Given the description of an element on the screen output the (x, y) to click on. 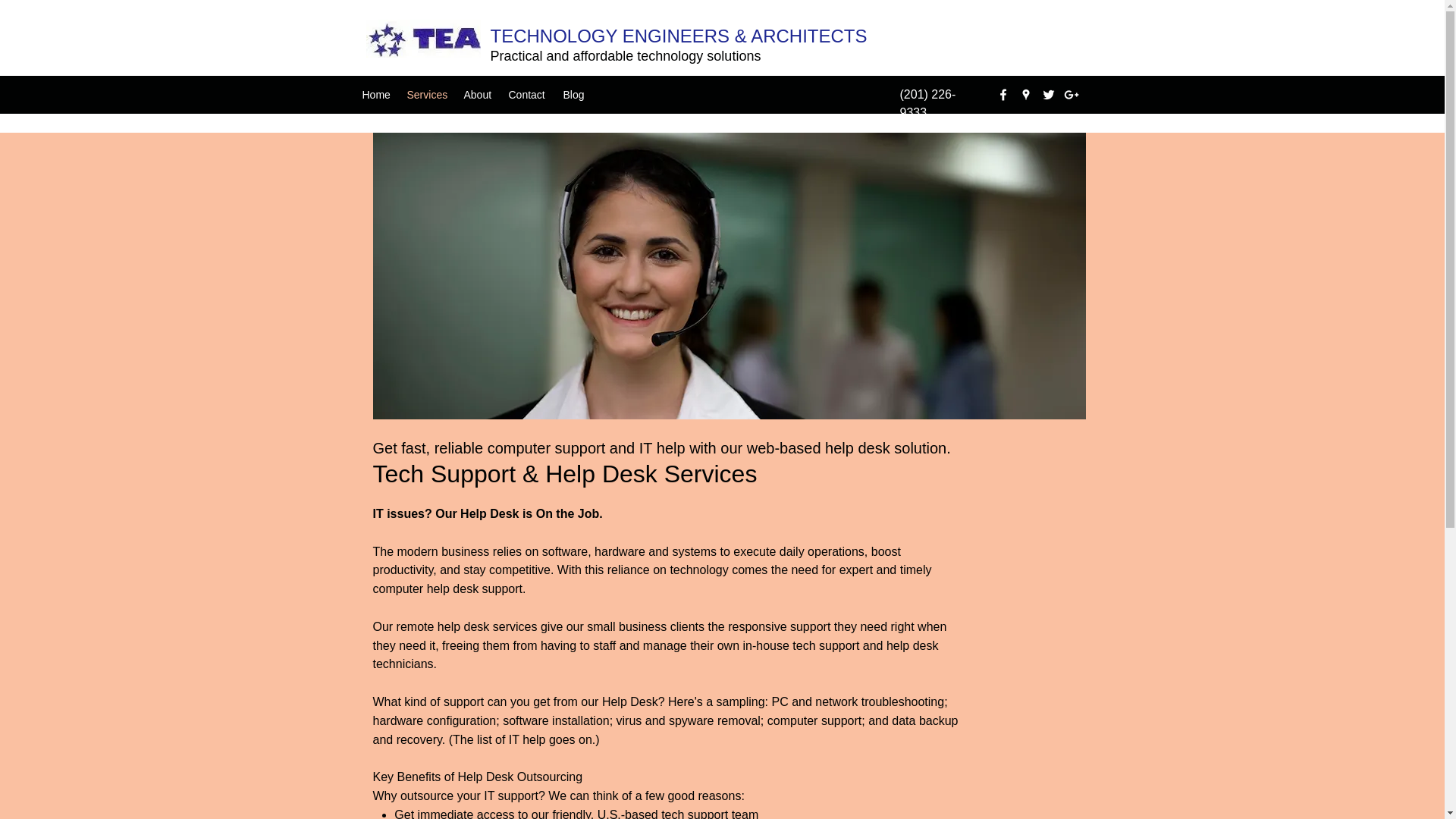
Blog (573, 94)
Services (426, 94)
About (478, 94)
Contact (527, 94)
Home (376, 94)
